Given the description of an element on the screen output the (x, y) to click on. 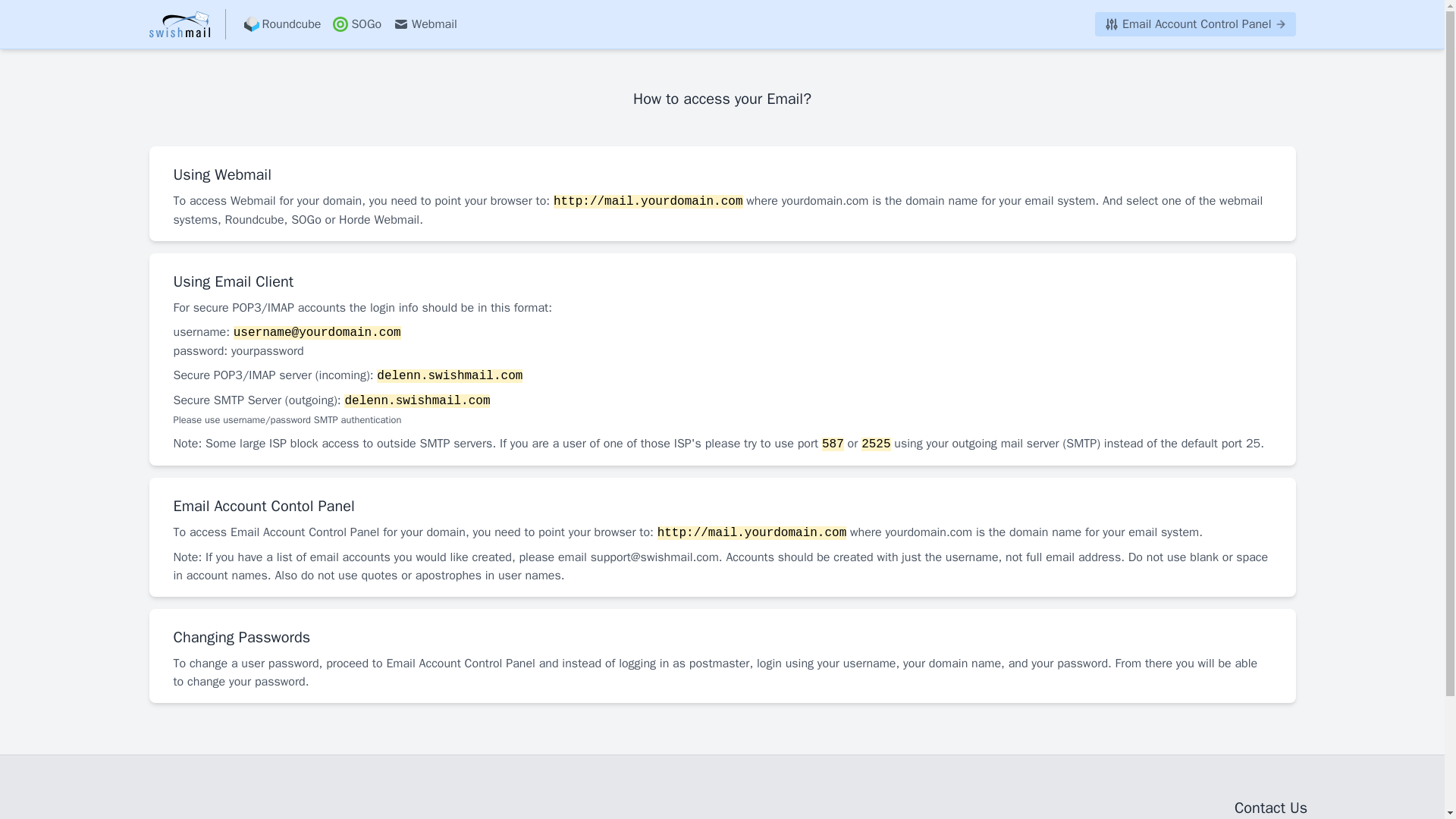
Webmail (425, 24)
Roundcube (282, 24)
SOGo (356, 24)
Email Account Control Panel (1194, 24)
